Given the description of an element on the screen output the (x, y) to click on. 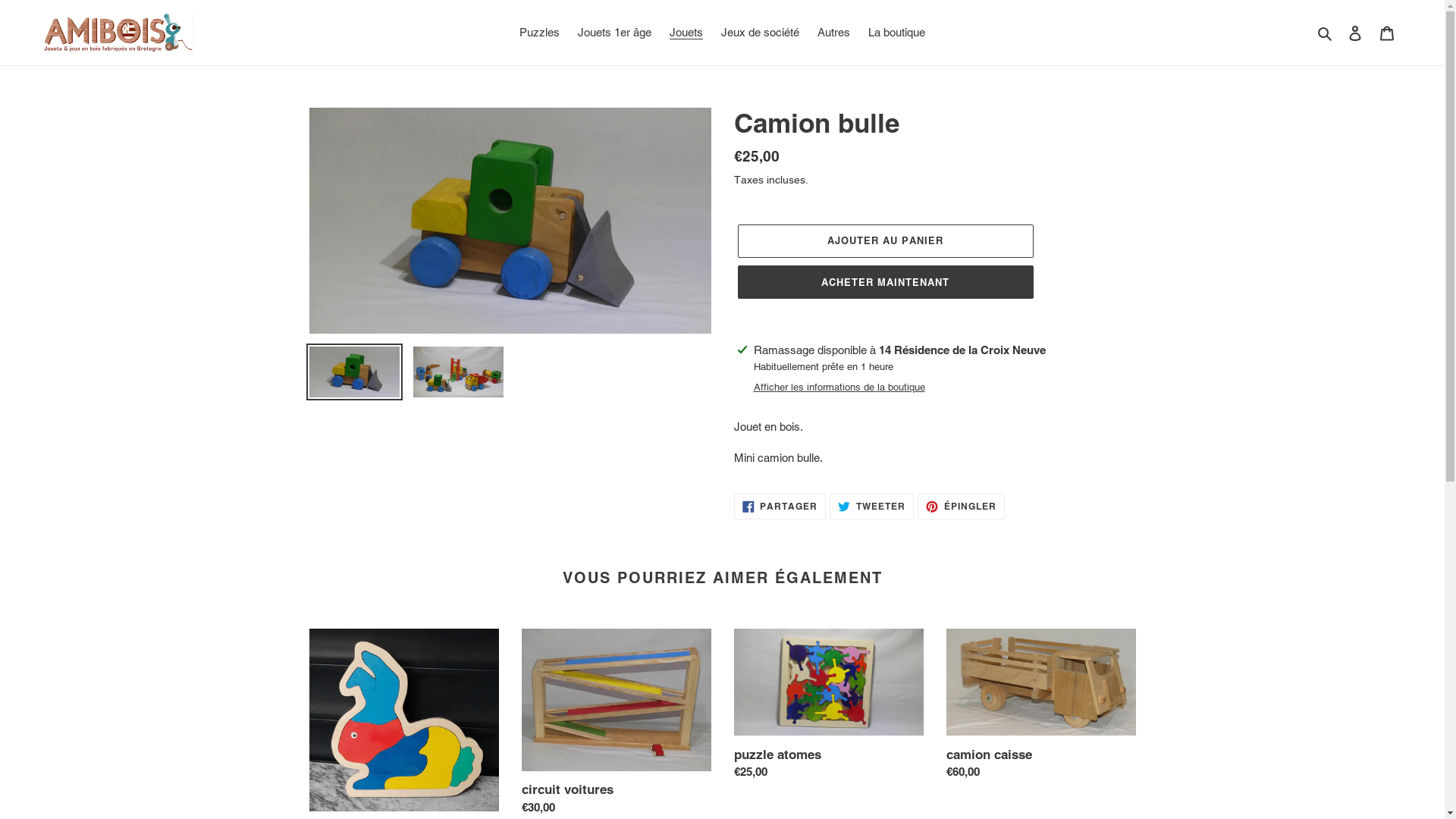
TWEETER
TWEETER SUR TWITTER Element type: text (871, 506)
Panier Element type: text (1386, 32)
Puzzles Element type: text (539, 32)
Jouets Element type: text (686, 32)
puzzle atomes Element type: text (828, 707)
Autres Element type: text (833, 32)
Rechercher Element type: text (1325, 32)
Afficher les informations de la boutique Element type: text (839, 387)
camion caisse Element type: text (1040, 707)
PARTAGER
PARTAGER SUR FACEBOOK Element type: text (780, 506)
Se connecter Element type: text (1355, 32)
ACHETER MAINTENANT Element type: text (884, 281)
AJOUTER AU PANIER Element type: text (884, 240)
La boutique Element type: text (896, 32)
